Given the description of an element on the screen output the (x, y) to click on. 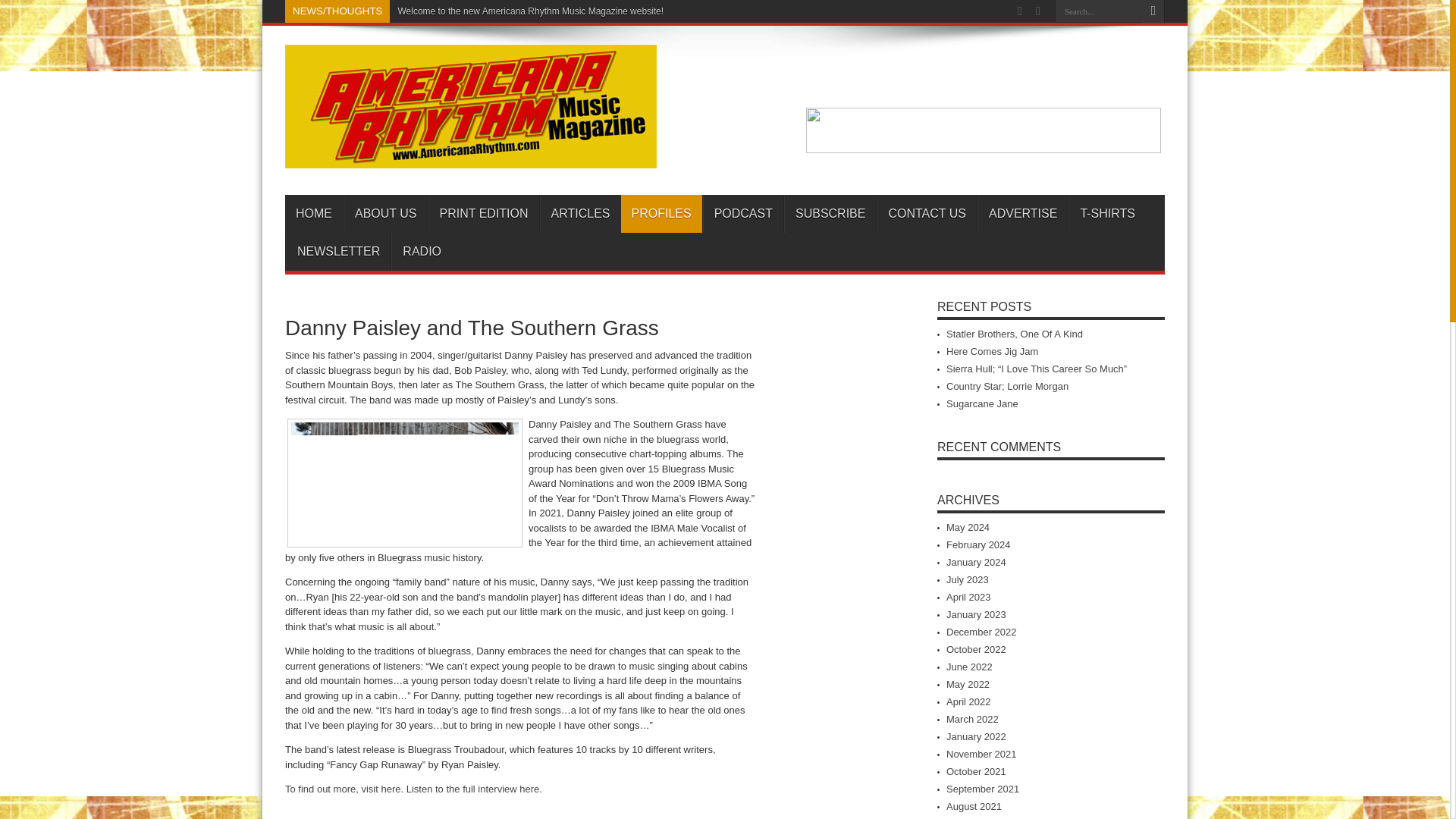
NEWSLETTER (337, 251)
To find out more, visit here (342, 788)
T-SHIRTS (1106, 213)
PODCAST (743, 213)
Welcome to the new Americana Rhythm Music Magazine website! (530, 11)
Welcome to the new Americana Rhythm Music Magazine website! (530, 11)
SUBSCRIBE (830, 213)
Search (1152, 11)
Listen to the full interview here. (473, 788)
ARTICLES (580, 213)
